Given the description of an element on the screen output the (x, y) to click on. 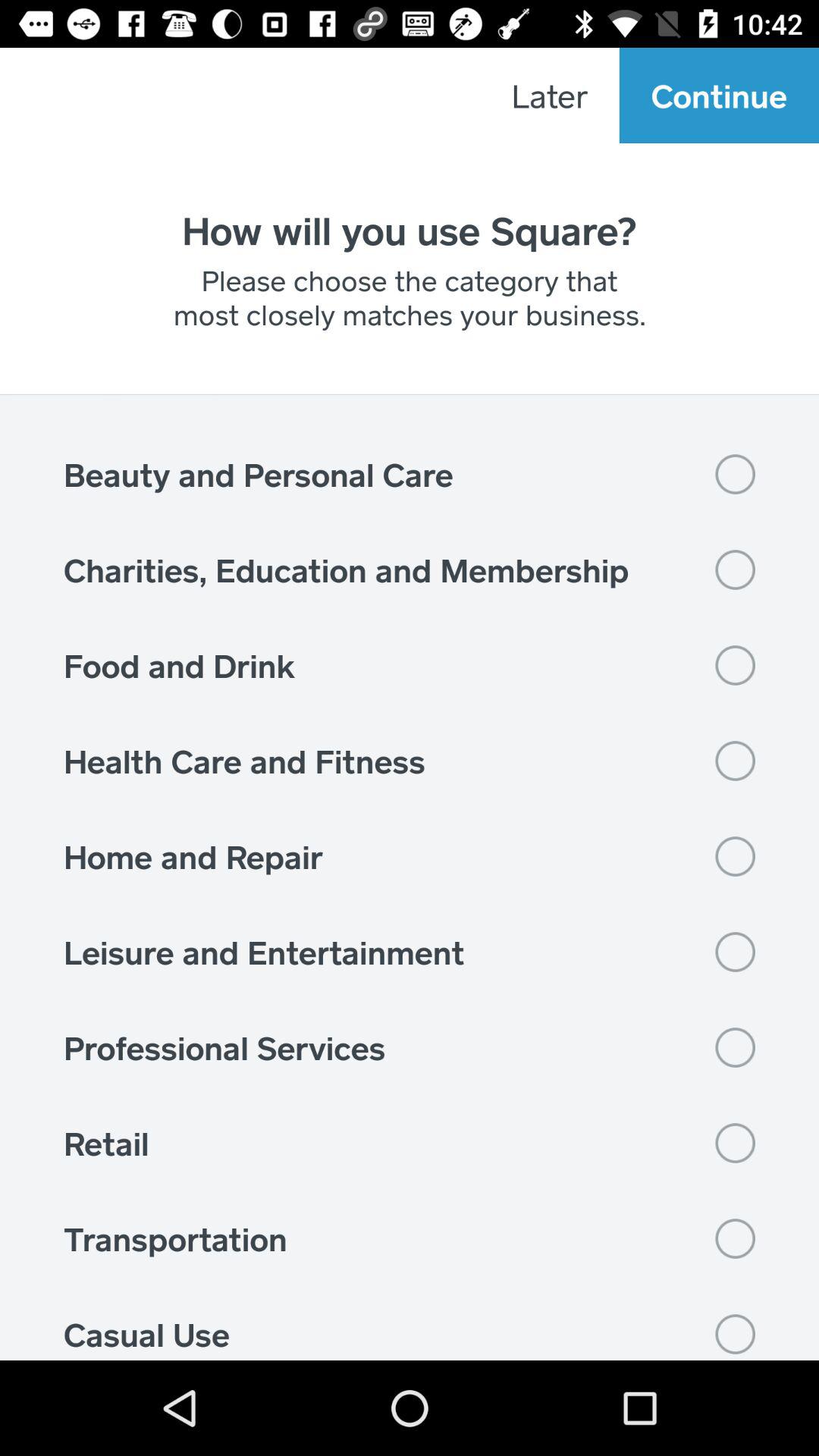
press the item to the left of continue (549, 95)
